Given the description of an element on the screen output the (x, y) to click on. 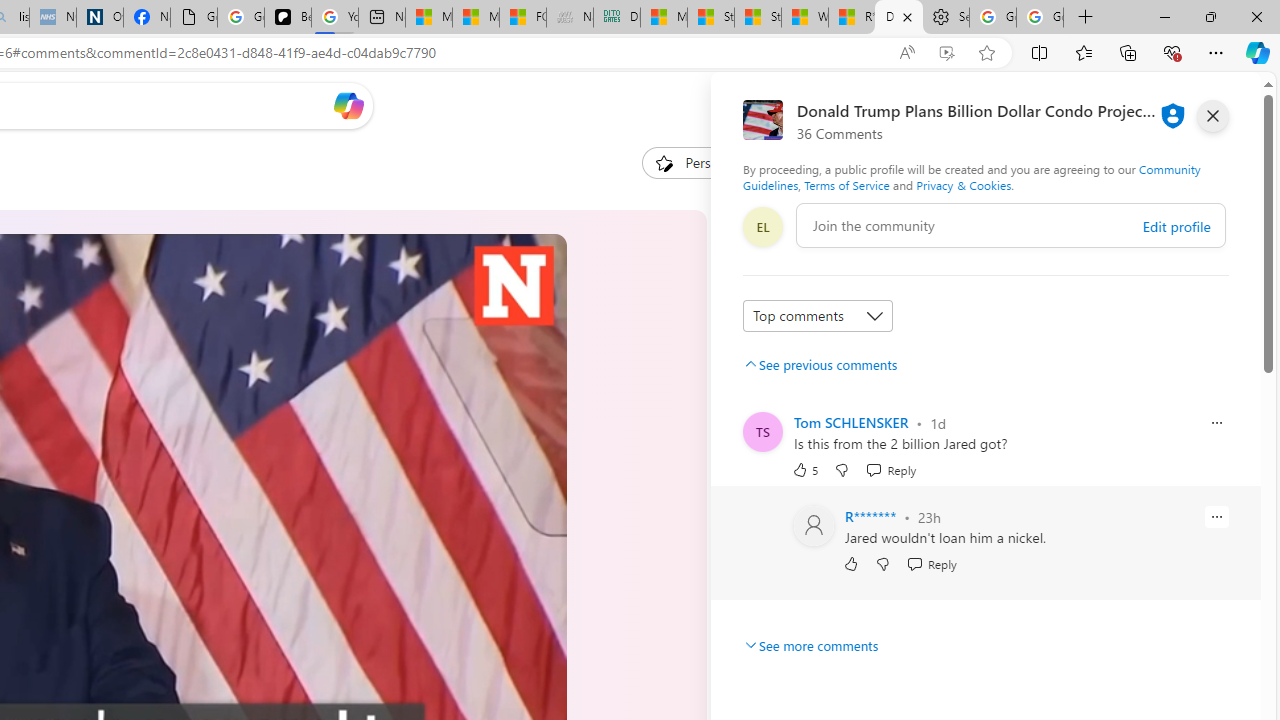
5 Like (804, 469)
Sort comments by (817, 315)
Tom SCHLENSKER (850, 422)
The Associated Press (770, 557)
Reply Reply Comment (931, 564)
